Given the description of an element on the screen output the (x, y) to click on. 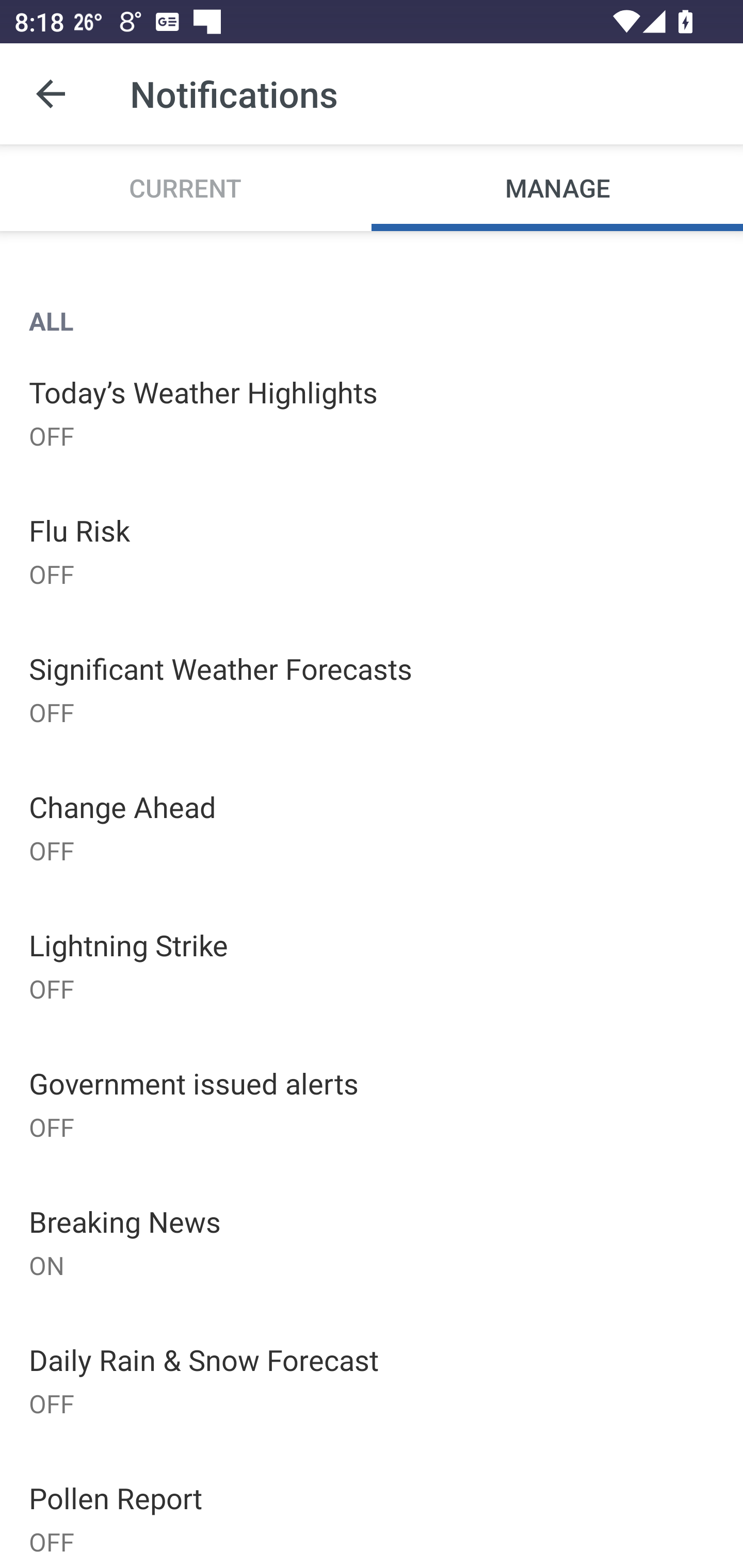
Navigate up (50, 93)
Current Tab CURRENT (185, 187)
Today’s Weather Highlights OFF (371, 412)
Flu Risk OFF (371, 550)
Significant Weather Forecasts OFF (371, 688)
Change Ahead OFF (371, 827)
Lightning Strike OFF (371, 965)
Government issued alerts OFF (371, 1103)
Breaking News ON (371, 1241)
Daily Rain & Snow Forecast OFF (371, 1379)
Pollen Report OFF (371, 1508)
